Given the description of an element on the screen output the (x, y) to click on. 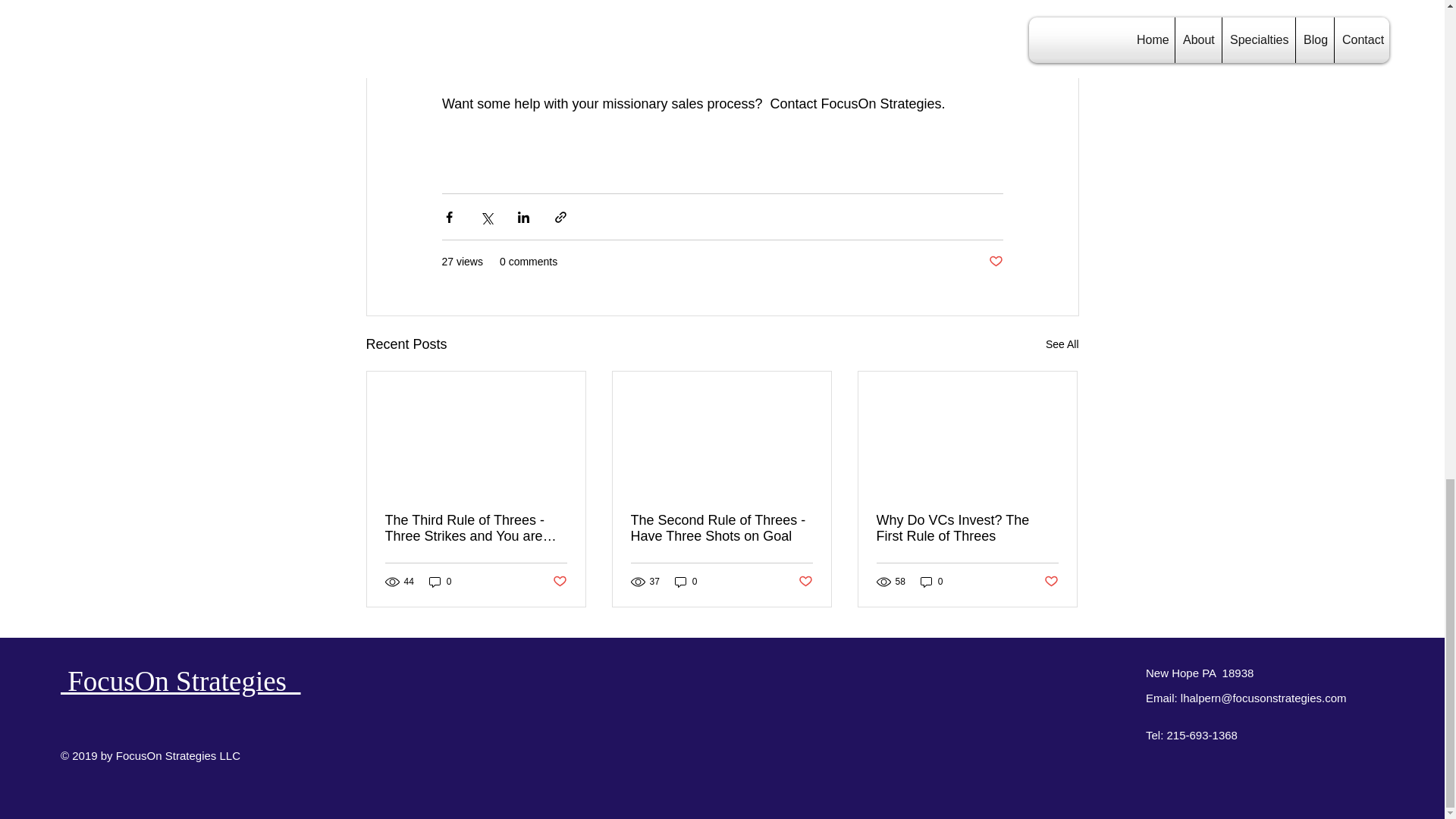
0 (931, 581)
 FocusOn Strategies   (181, 680)
0 (440, 581)
Post not marked as liked (804, 581)
Why Do VCs Invest? The First Rule of Threes (967, 528)
0 (685, 581)
Post not marked as liked (558, 581)
Post not marked as liked (995, 261)
See All (1061, 344)
The Second Rule of Threes - Have Three Shots on Goal (721, 528)
Post not marked as liked (1050, 581)
